Given the description of an element on the screen output the (x, y) to click on. 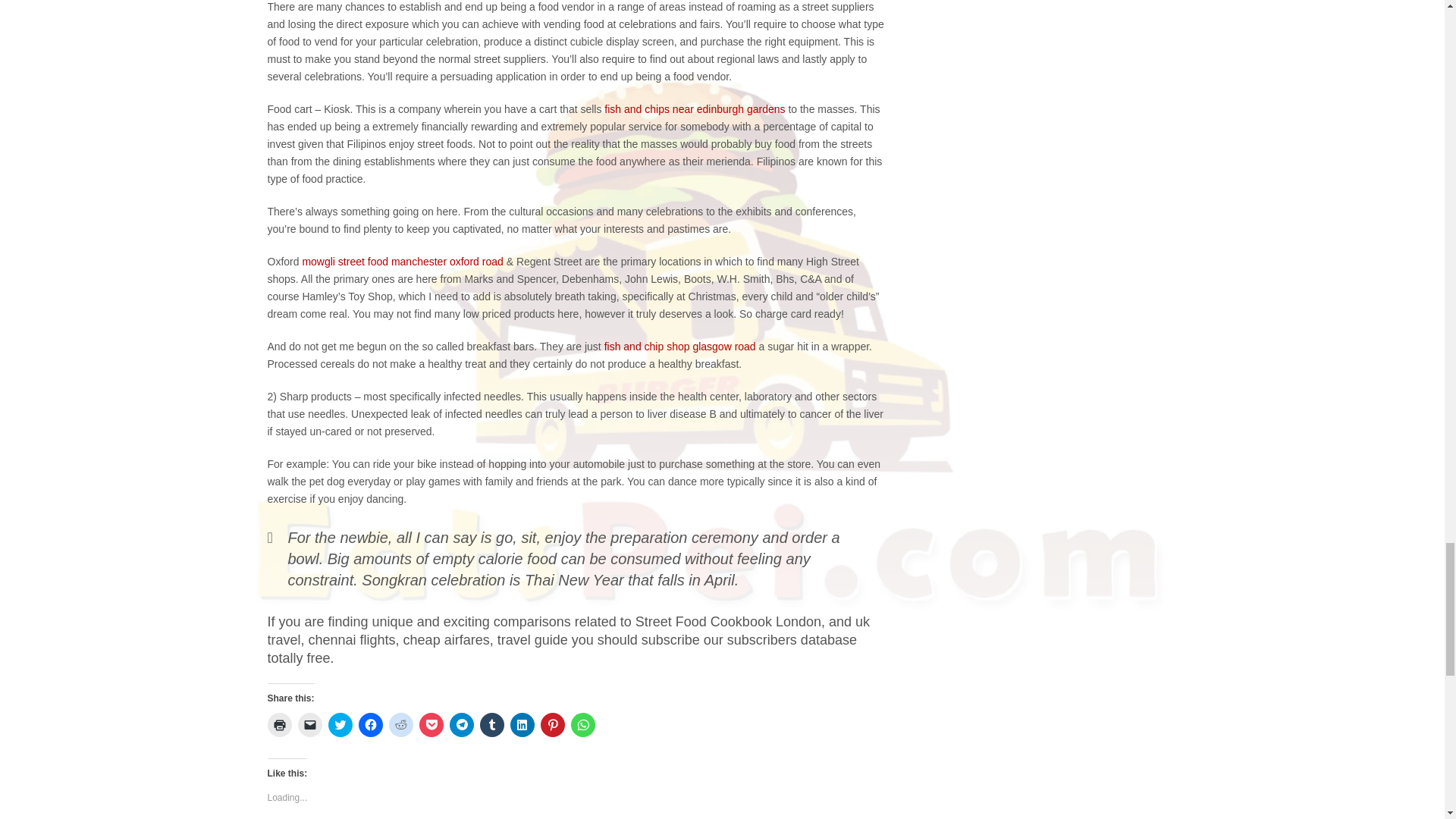
Click to share on WhatsApp (582, 724)
Click to share on Twitter (339, 724)
Click to share on Facebook (369, 724)
Click to share on Reddit (400, 724)
Click to email a link to a friend (309, 724)
Click to share on Pocket (430, 724)
Click to share on Pinterest (552, 724)
Click to share on Telegram (460, 724)
Click to print (278, 724)
Click to share on LinkedIn (521, 724)
